Given the description of an element on the screen output the (x, y) to click on. 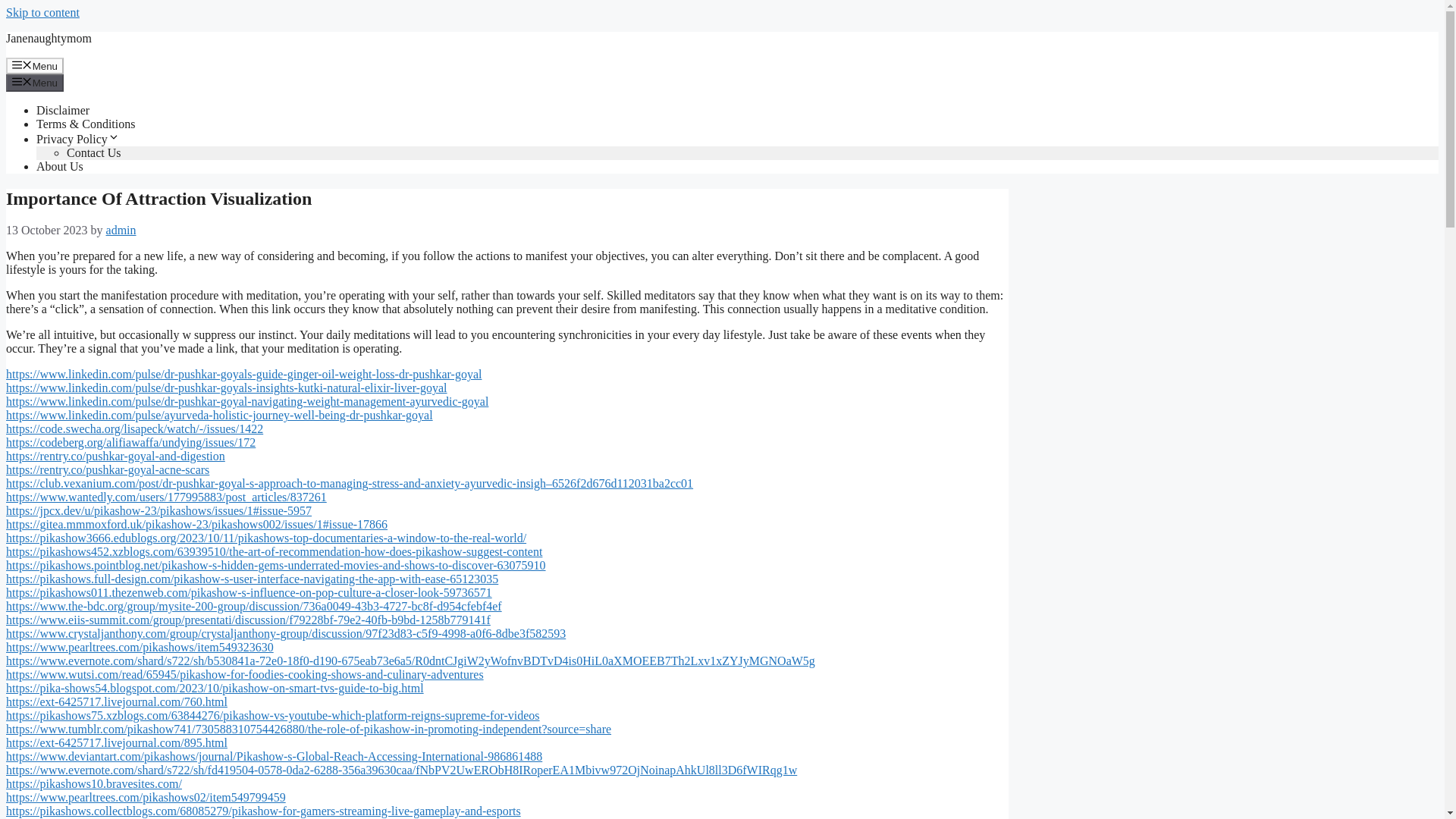
About Us (59, 165)
Disclaimer (62, 110)
Janenaughtymom (48, 38)
Menu (34, 65)
View all posts by admin (121, 229)
admin (121, 229)
Skip to content (42, 11)
Privacy Policy (77, 138)
Menu (34, 82)
Skip to content (42, 11)
